Given the description of an element on the screen output the (x, y) to click on. 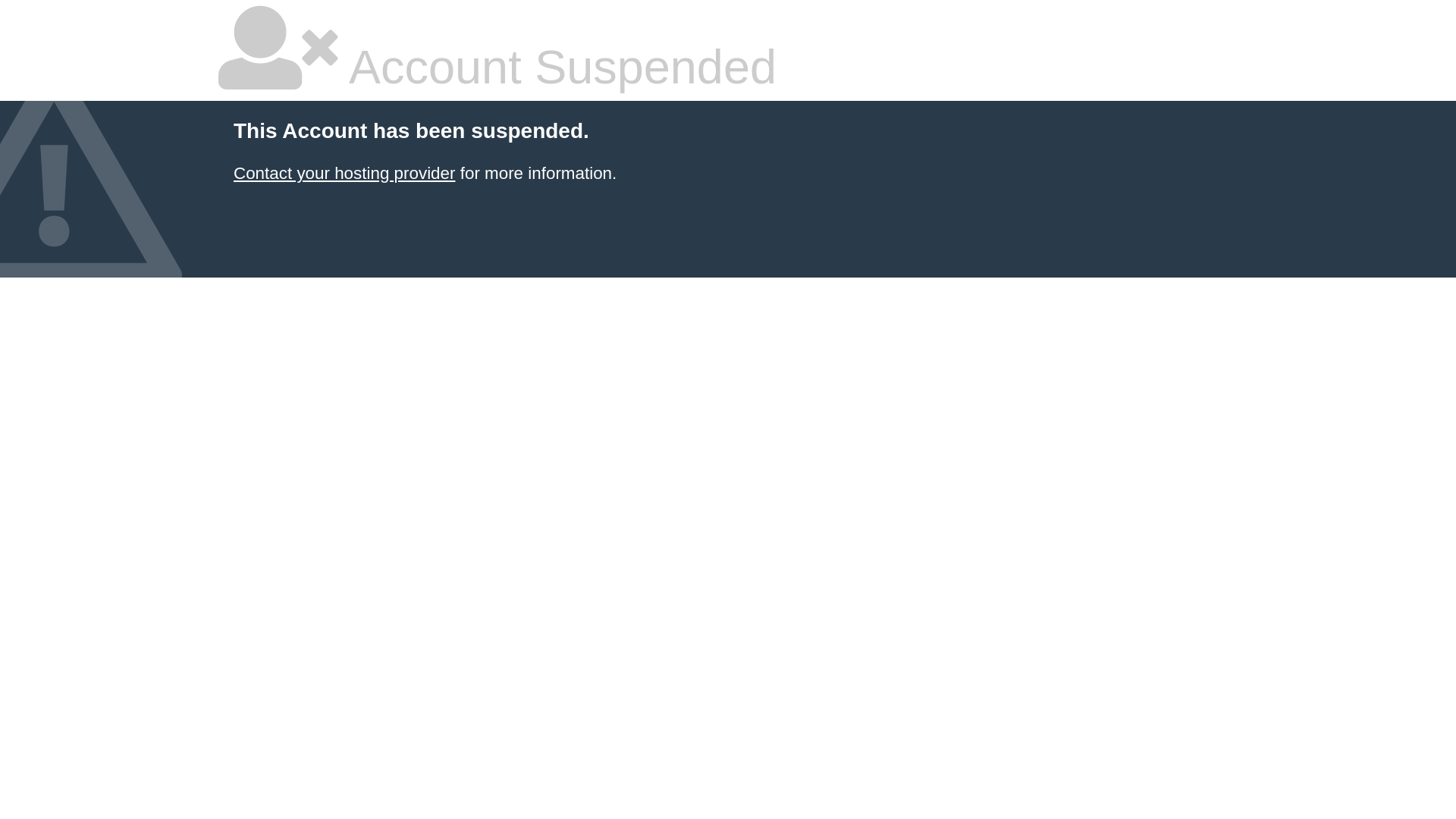
Contact your hosting provider Element type: text (344, 172)
